Given the description of an element on the screen output the (x, y) to click on. 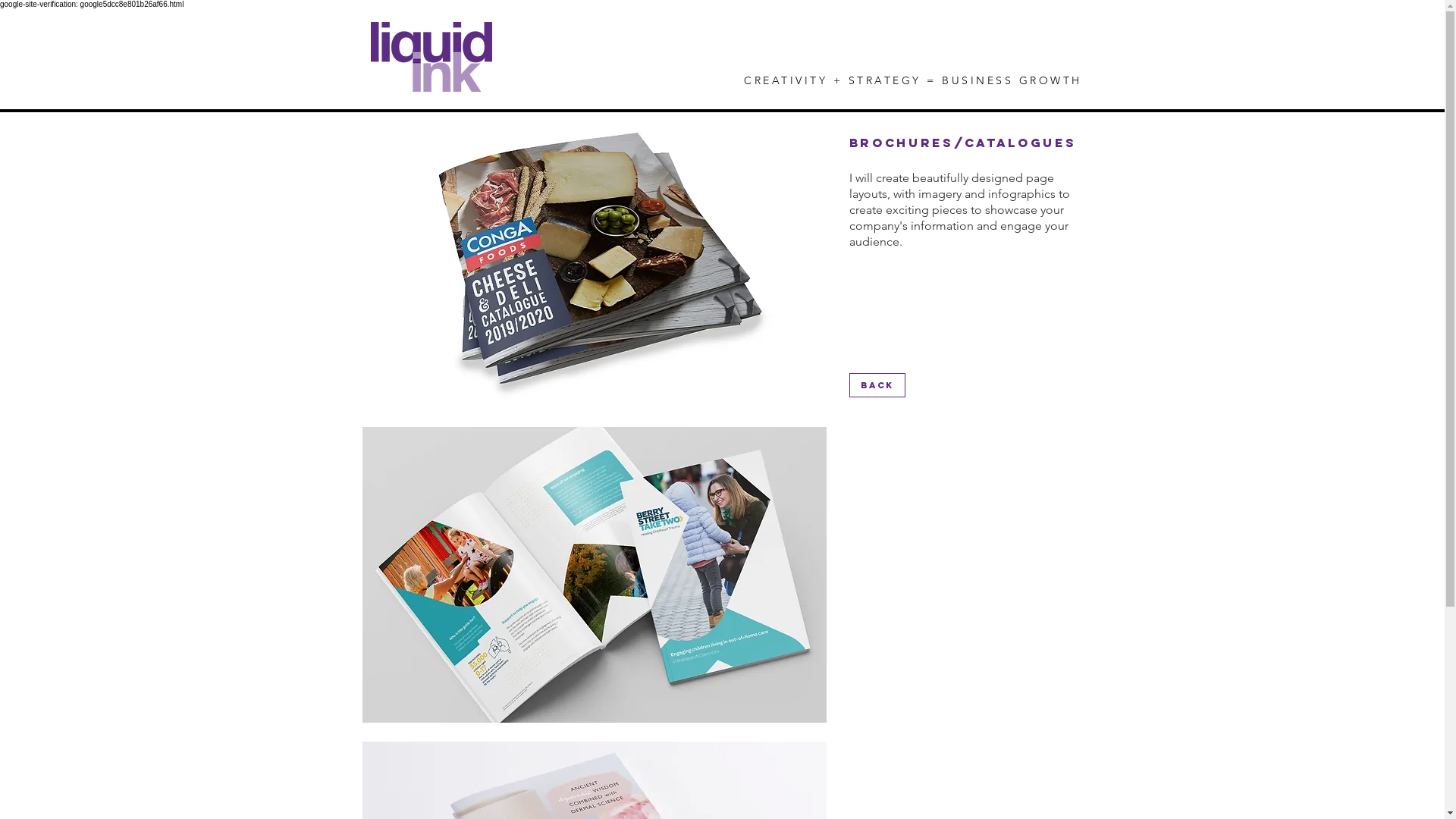
BACK Element type: text (877, 385)
